Given the description of an element on the screen output the (x, y) to click on. 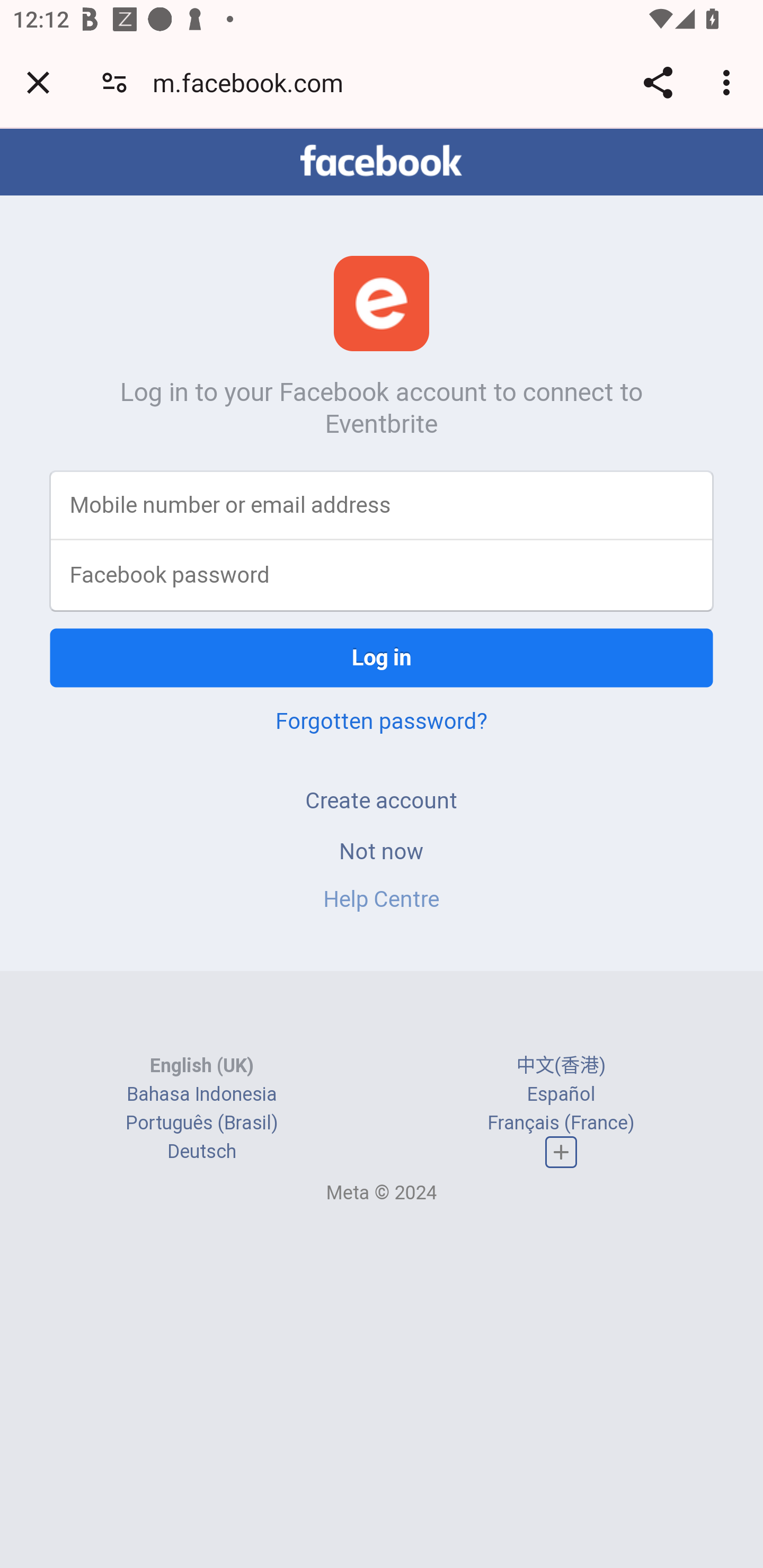
Close tab (38, 82)
Share (657, 82)
Customize and control Google Chrome (729, 82)
Connection is secure (114, 81)
m.facebook.com (254, 81)
facebook (381, 160)
Log in (381, 657)
Forgotten password? (381, 720)
Create account (381, 800)
Not now (381, 850)
Help Centre (381, 898)
中文(香港) (561, 1065)
Bahasa Indonesia (201, 1093)
Español (560, 1093)
Português (Brasil) (201, 1122)
Français (France) (560, 1122)
Complete list of languages (560, 1152)
Deutsch (201, 1151)
